Given the description of an element on the screen output the (x, y) to click on. 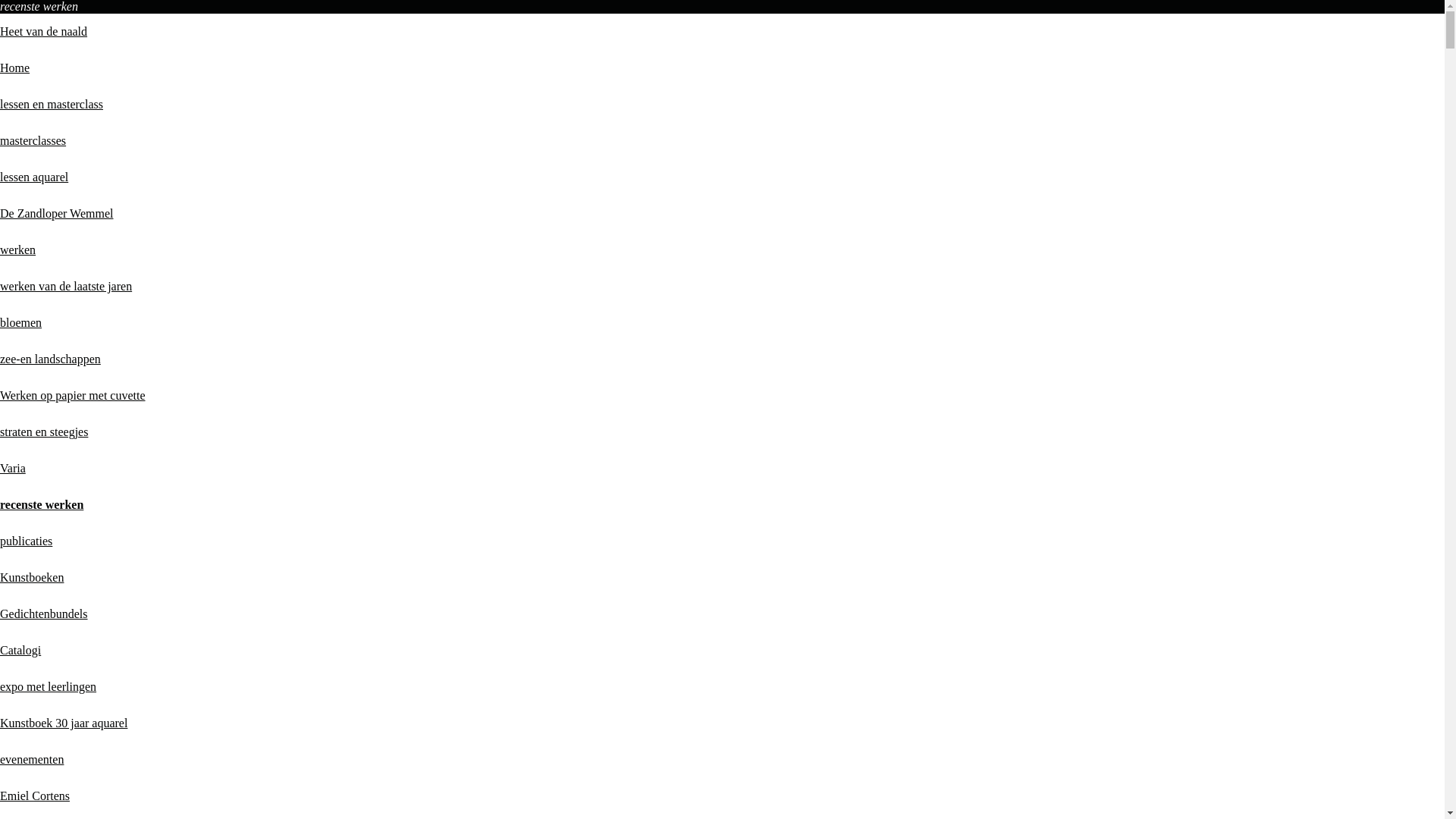
werken van de laatste jaren Element type: text (65, 285)
lessen aquarel Element type: text (34, 176)
straten en steegjes Element type: text (43, 431)
Varia Element type: text (12, 467)
Kunstboeken Element type: text (31, 577)
werken Element type: text (17, 249)
evenementen Element type: text (31, 759)
Home Element type: text (14, 67)
Kunstboek 30 jaar aquarel Element type: text (63, 722)
Heet van de naald Element type: text (43, 31)
Catalogi Element type: text (20, 649)
zee-en landschappen Element type: text (50, 358)
recenste werken Element type: text (41, 504)
Gedichtenbundels Element type: text (43, 613)
expo met leerlingen Element type: text (48, 686)
bloemen Element type: text (20, 322)
Emiel Cortens Element type: text (34, 795)
lessen en masterclass Element type: text (51, 103)
publicaties Element type: text (26, 540)
De Zandloper Wemmel Element type: text (56, 213)
masterclasses Element type: text (32, 140)
Werken op papier met cuvette Element type: text (72, 395)
